Given the description of an element on the screen output the (x, y) to click on. 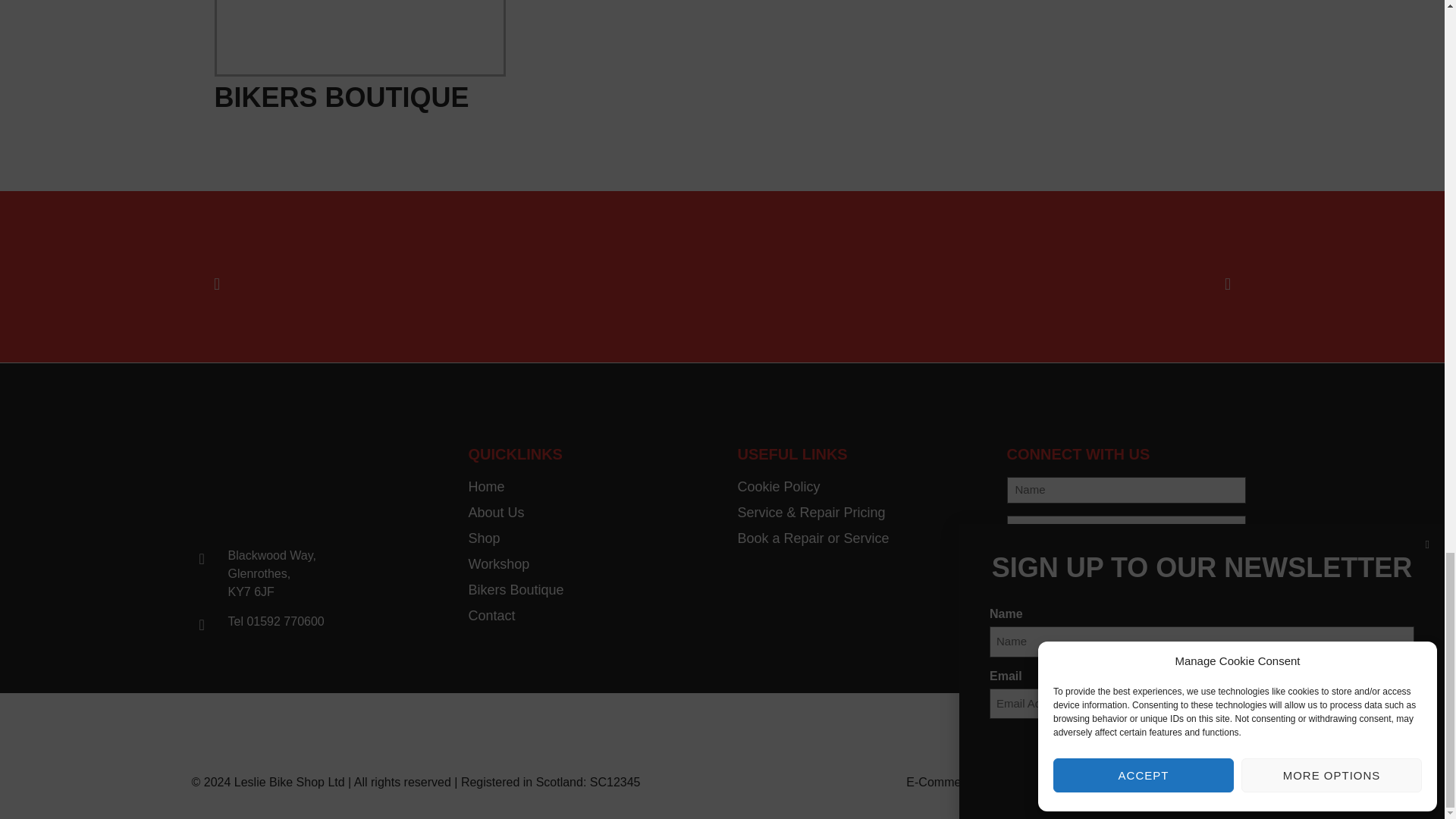
Shop (587, 538)
About Us (587, 512)
Book a Repair or Service (855, 538)
Workshop (587, 564)
Tel 01592 770600 (309, 621)
Home (587, 486)
Bikers Boutique (587, 589)
E-Commerce Websites in Scotland by (1007, 781)
Submit (1047, 574)
Contact (587, 616)
Cookie Policy (855, 486)
Submit (1047, 574)
